Given the description of an element on the screen output the (x, y) to click on. 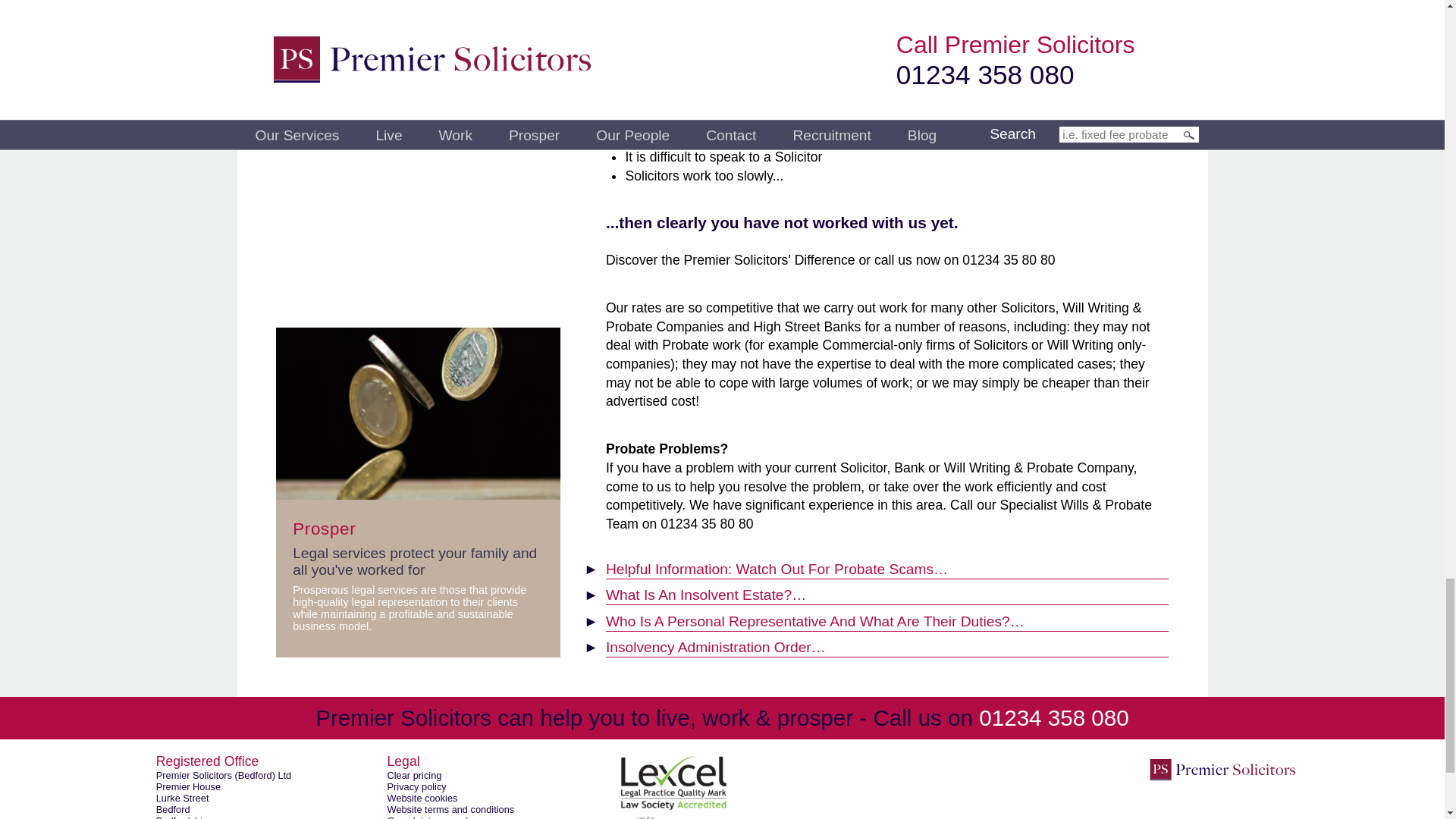
Click to reveal text and read more... (887, 565)
Click to reveal text and read more... (887, 644)
Click to reveal text and read more... (887, 618)
Copyright 2024 Premier Solicitors (1222, 768)
Click to reveal text and read more... (887, 592)
